Given the description of an element on the screen output the (x, y) to click on. 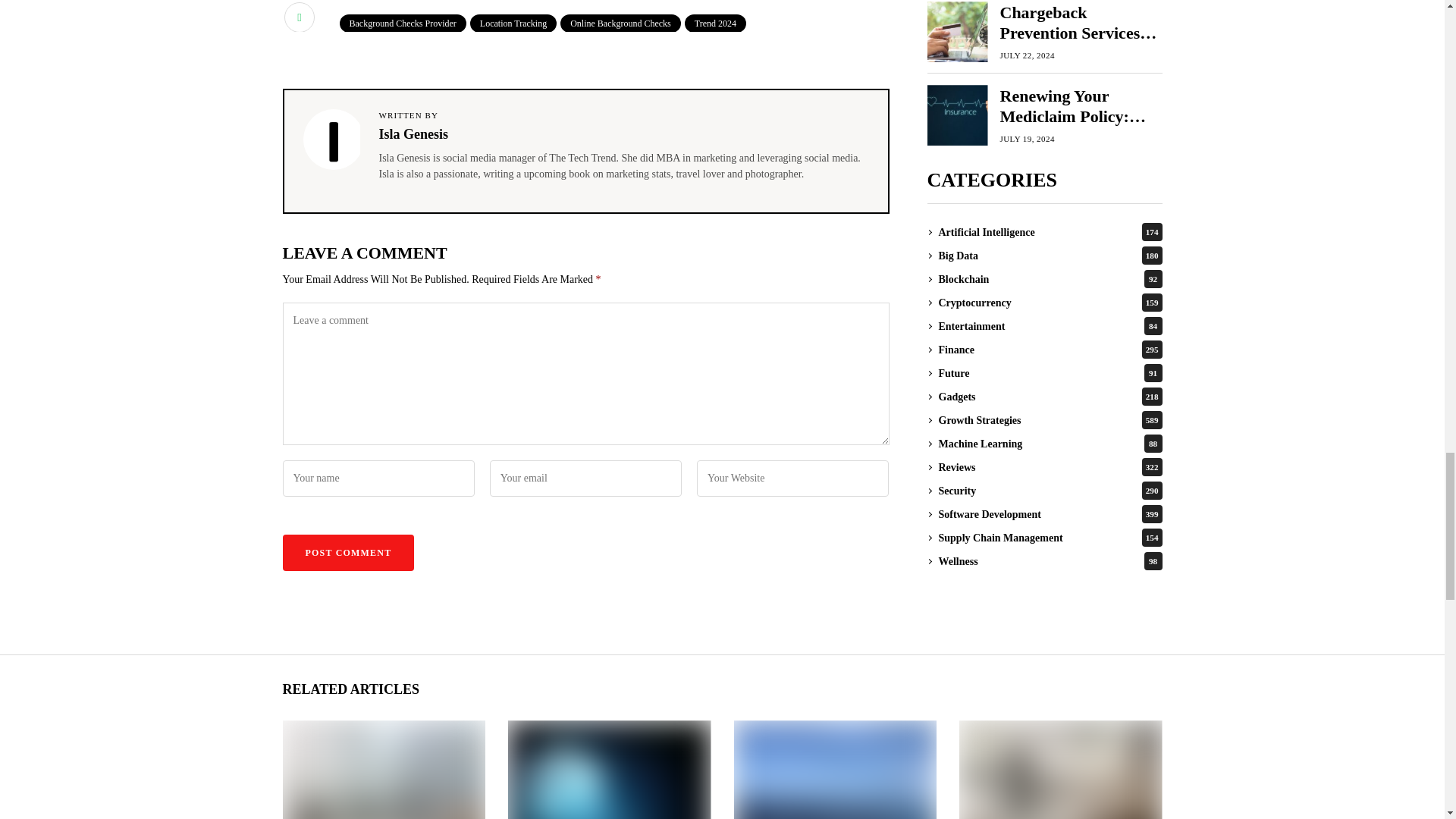
Post Comment (347, 552)
Please wait until Google reCAPTCHA is loaded. (347, 552)
